Given the description of an element on the screen output the (x, y) to click on. 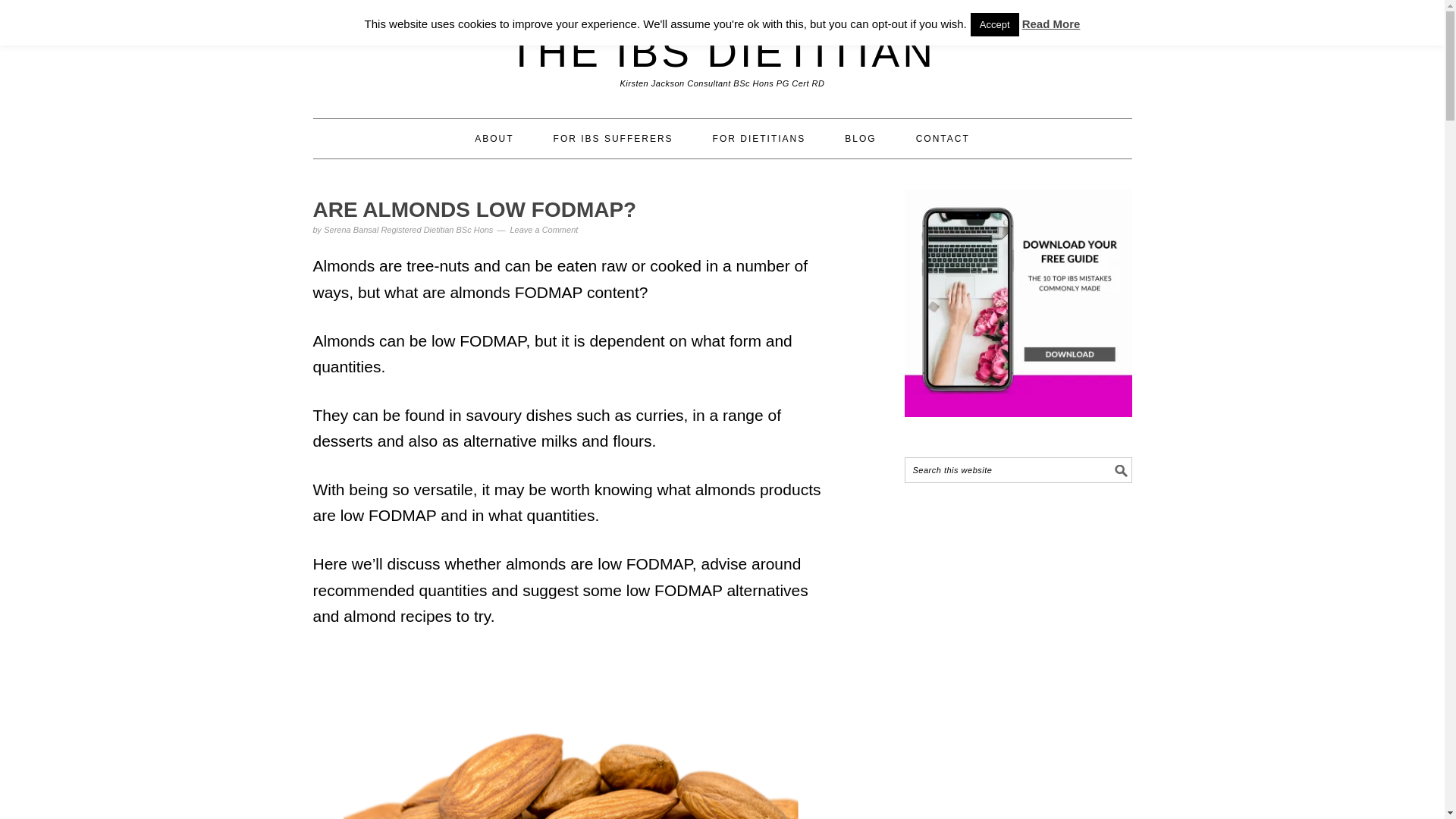
CONTACT (942, 138)
FOR IBS SUFFERERS (613, 138)
Leave a Comment (543, 229)
Serena Bansal Registered Dietitian BSc Hons (408, 229)
FOR DIETITIANS (759, 138)
BLOG (860, 138)
ABOUT (493, 138)
THE IBS DIETITIAN (722, 52)
